Given the description of an element on the screen output the (x, y) to click on. 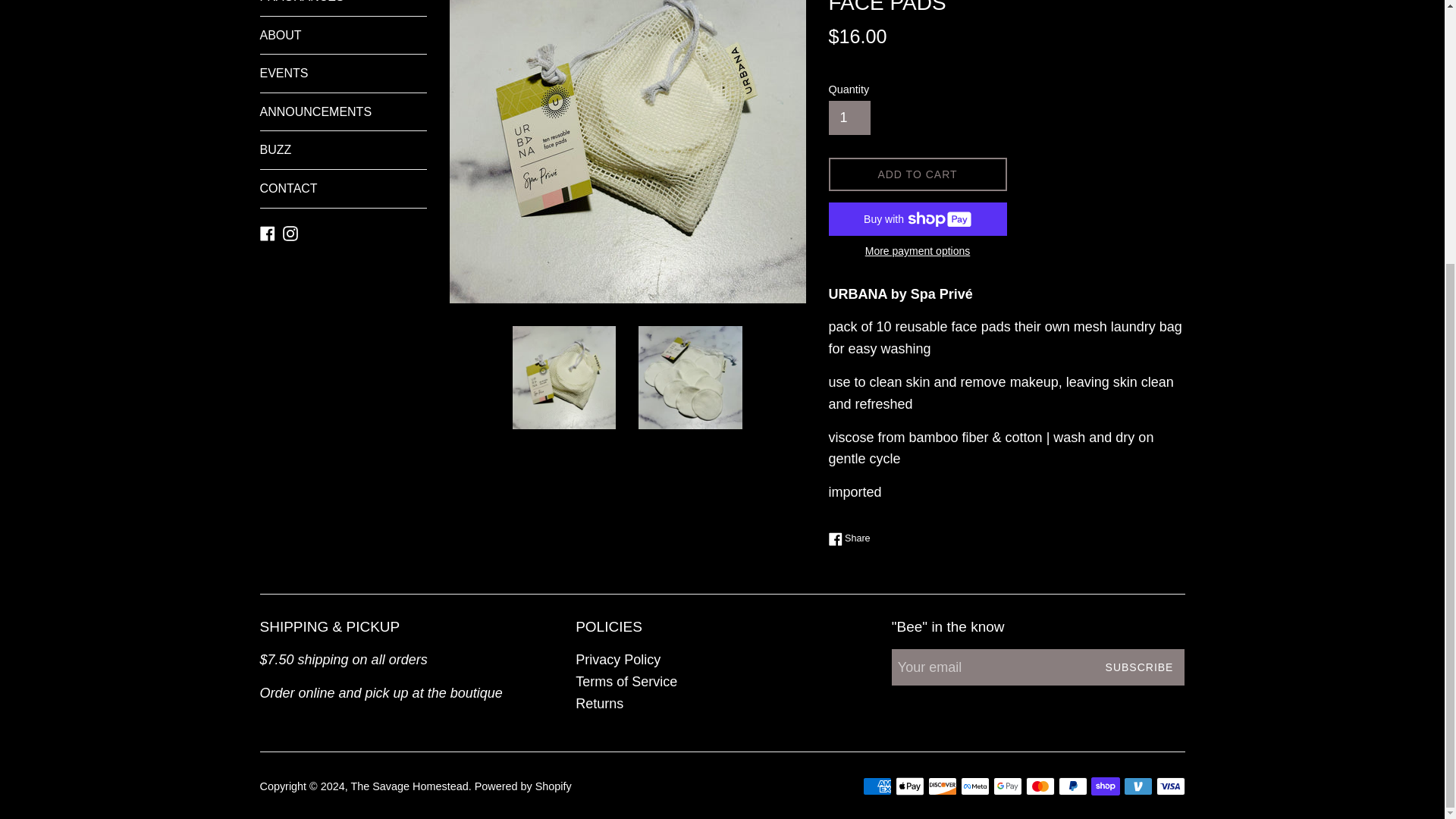
Facebook (267, 232)
Discover (942, 786)
ANNOUNCEMENTS (342, 112)
American Express (877, 786)
CONTACT (342, 188)
BUZZ (342, 149)
The Savage Homestead on Instagram (290, 232)
Shop Pay (1104, 786)
The Savage Homestead on Facebook (267, 232)
PayPal (1072, 786)
1 (848, 117)
EVENTS (342, 73)
Powered by Shopify (523, 786)
Visa (1170, 786)
